Given the description of an element on the screen output the (x, y) to click on. 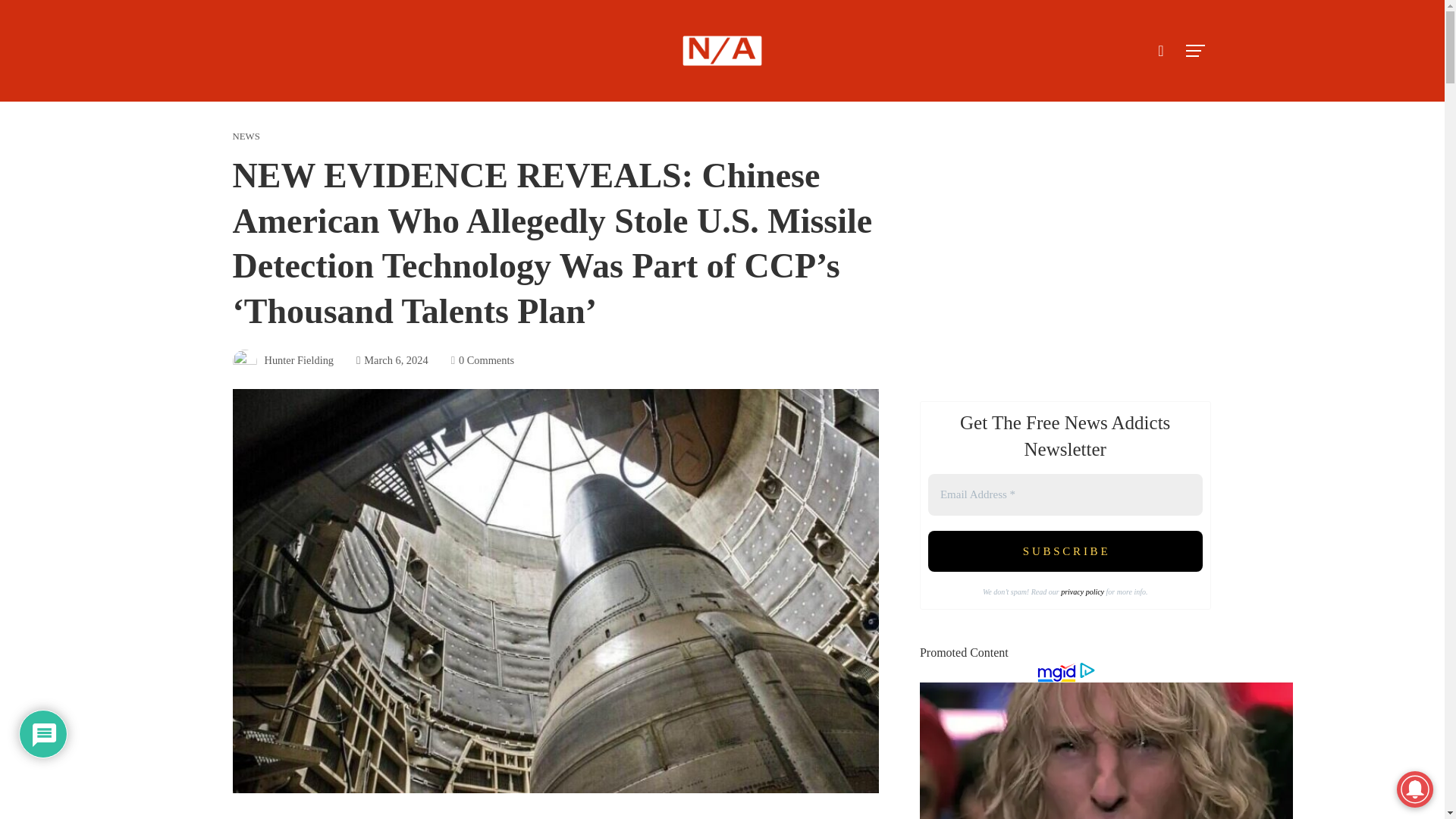
S U B S C R I B E (1065, 551)
NEWS (245, 136)
